Given the description of an element on the screen output the (x, y) to click on. 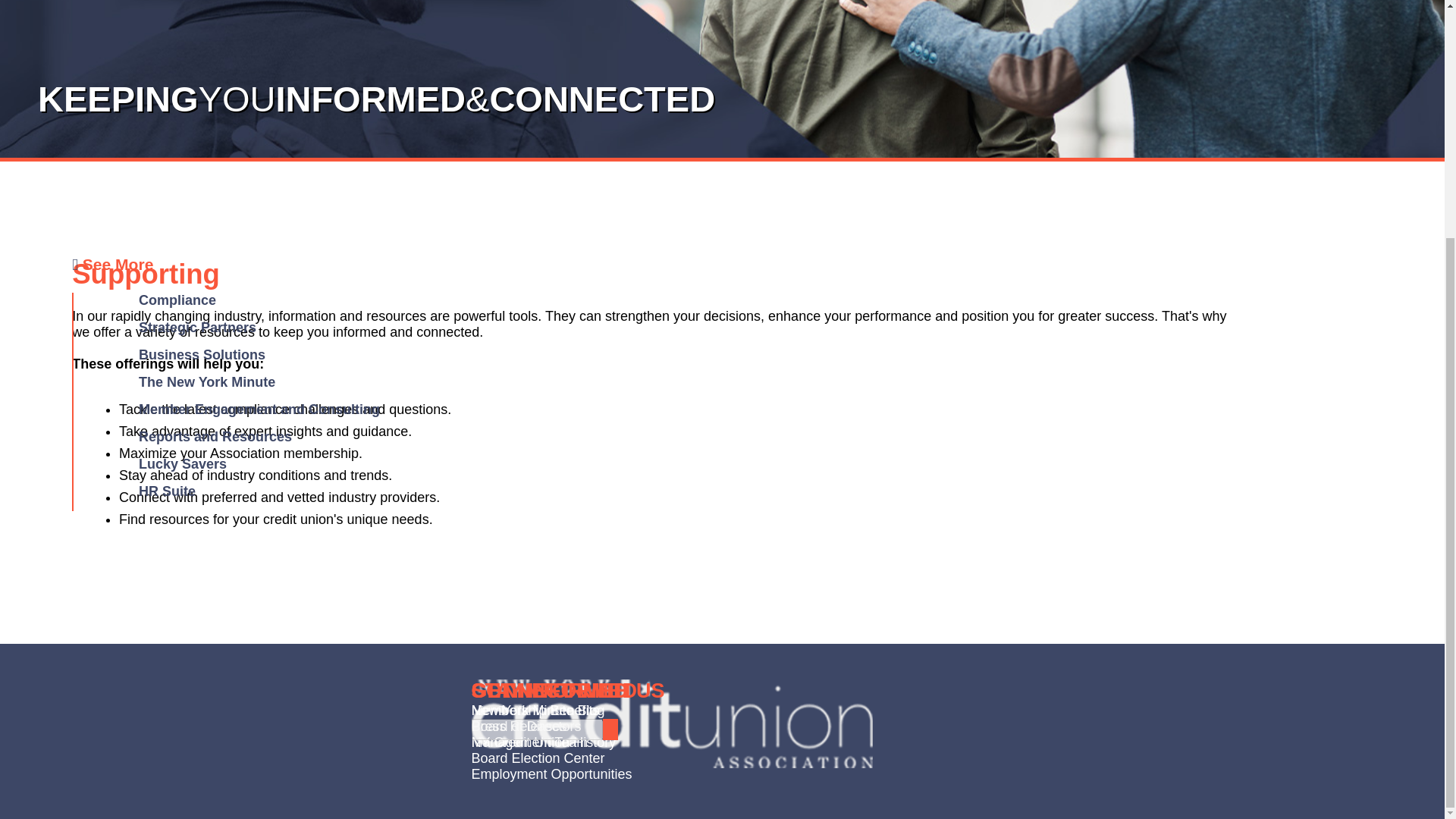
NYCUA Logo Transparent (672, 723)
